Given the description of an element on the screen output the (x, y) to click on. 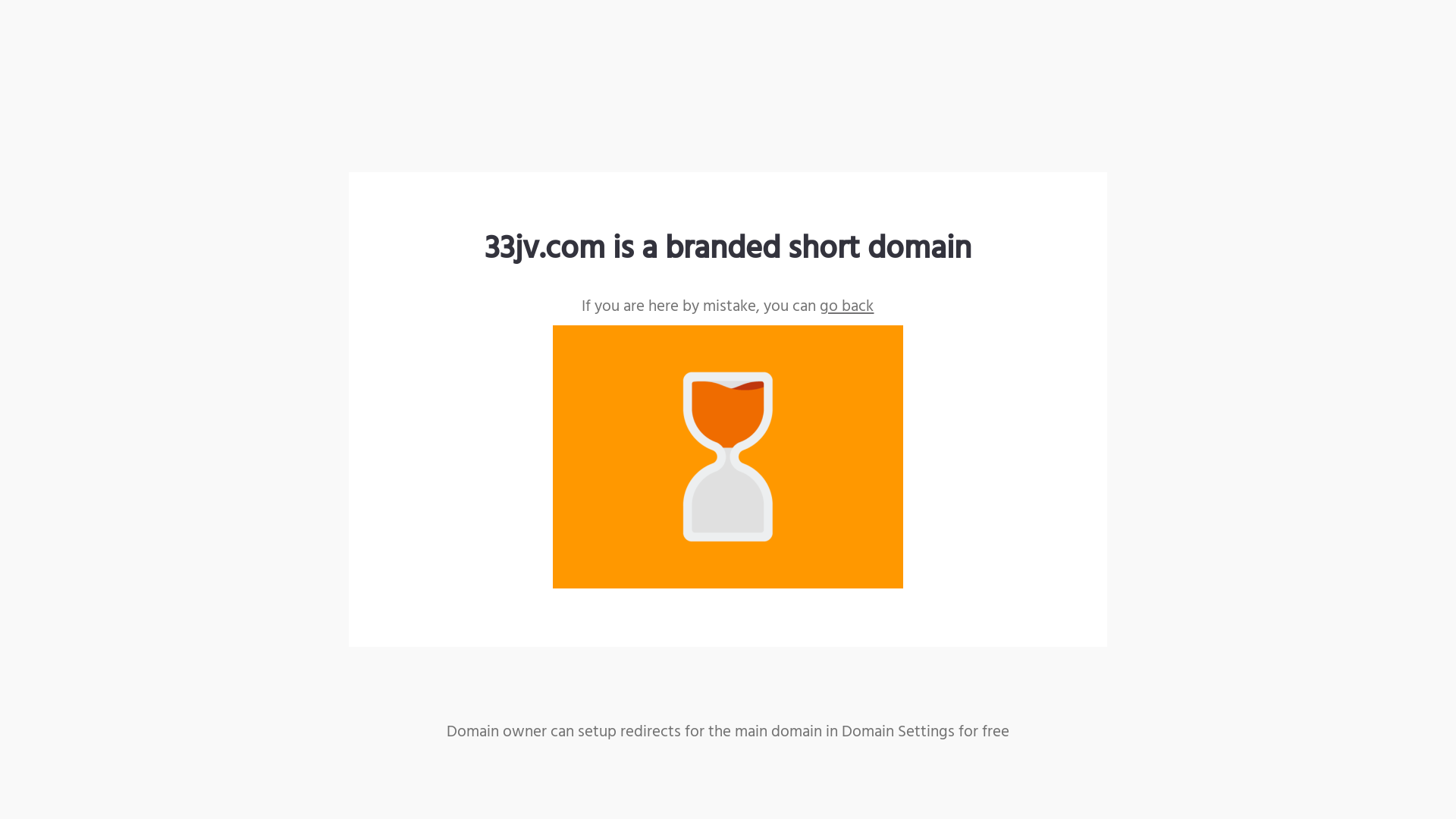
go back Element type: text (846, 306)
